Given the description of an element on the screen output the (x, y) to click on. 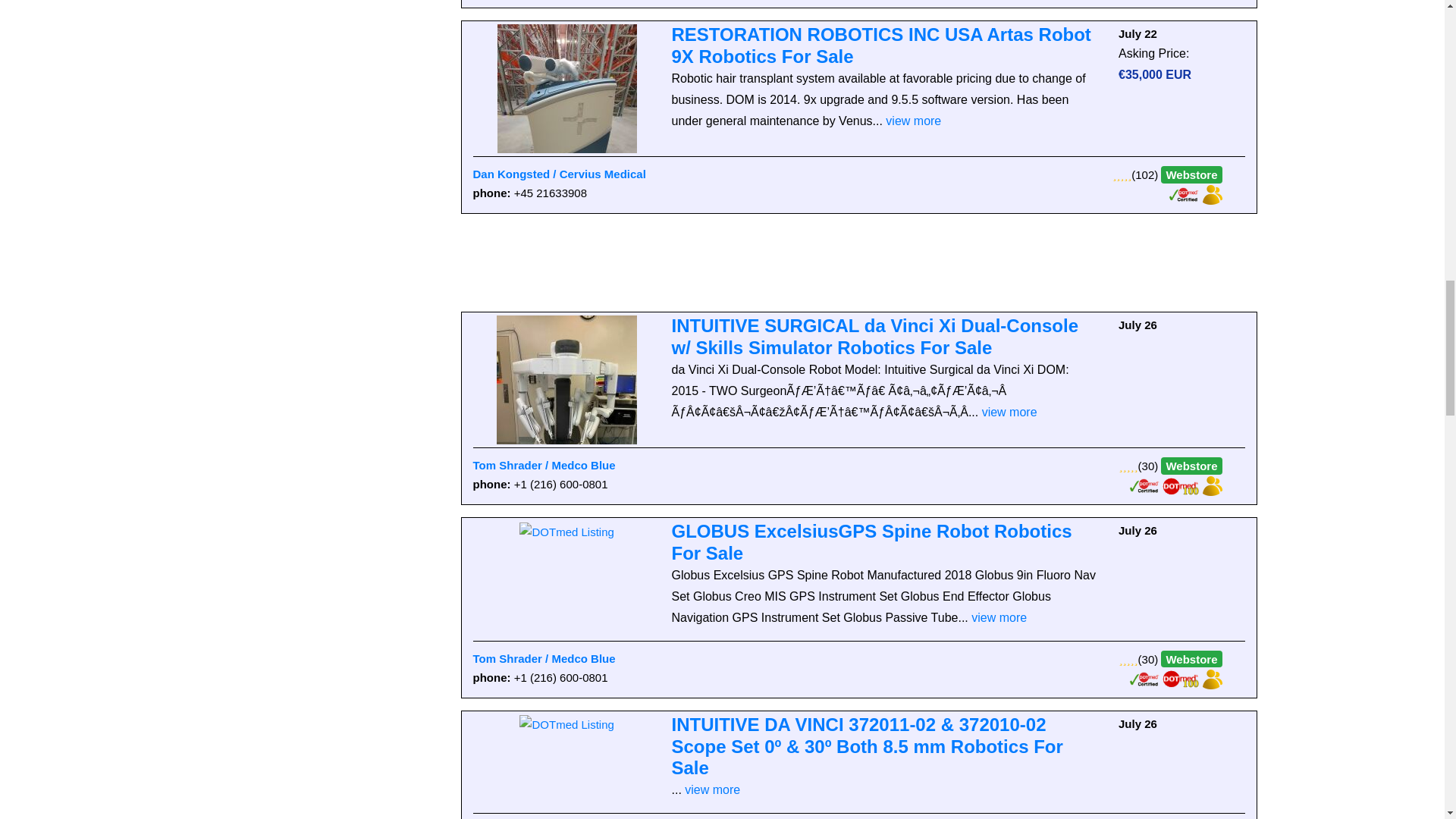
Visit My Virtual Trade Show Booth (1212, 193)
This User is DOTmed Certified (1145, 677)
Visit My Virtual Trade Show Booth (1212, 677)
This User is part of the DOTmed 100 (1181, 677)
This User is DOTmed Certified (1185, 193)
This User is DOTmed Certified (1145, 484)
Visit My Virtual Trade Show Booth (1212, 484)
This User is part of the DOTmed 100 (1181, 484)
